Given the description of an element on the screen output the (x, y) to click on. 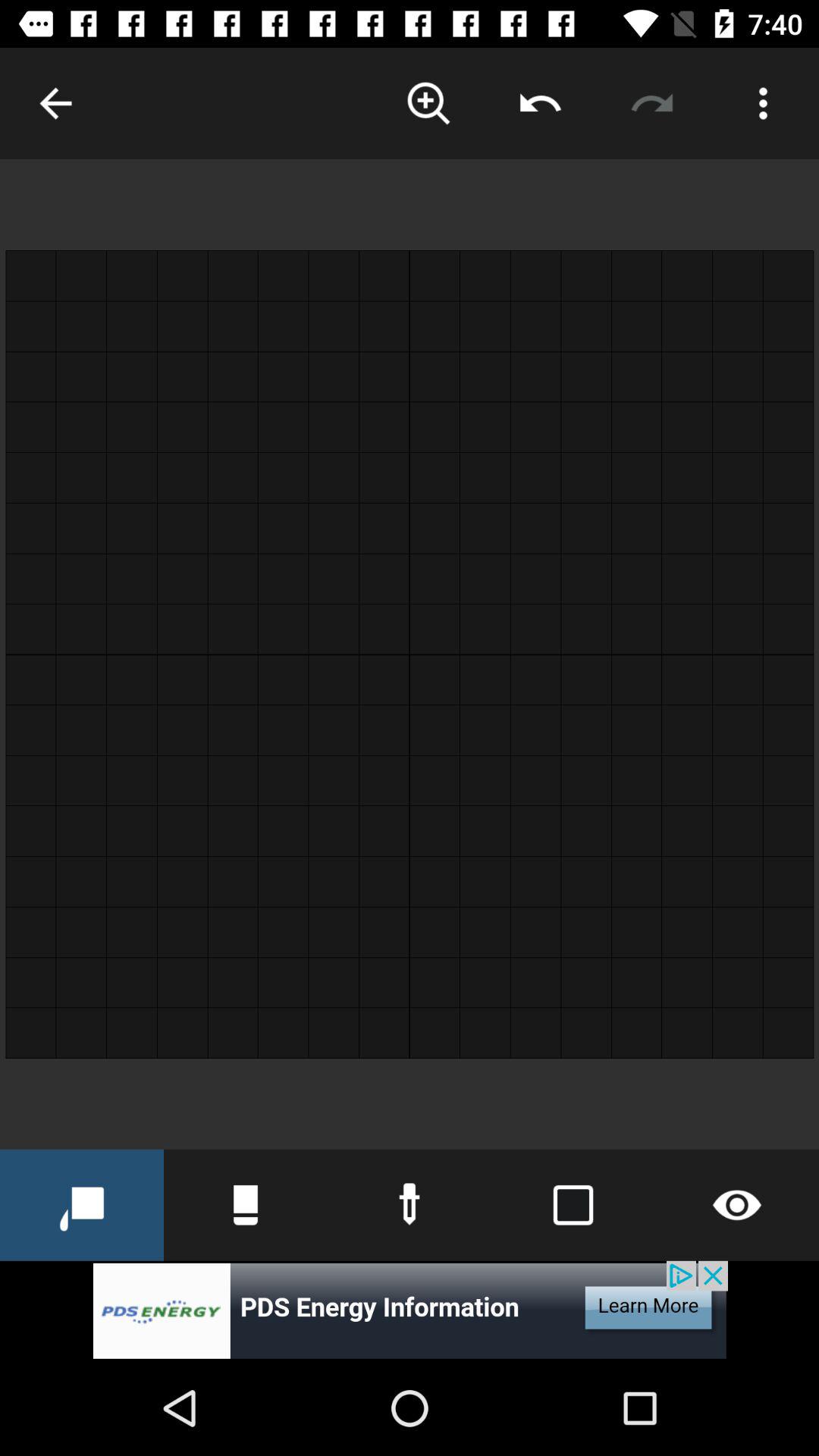
add banner (409, 1310)
